Given the description of an element on the screen output the (x, y) to click on. 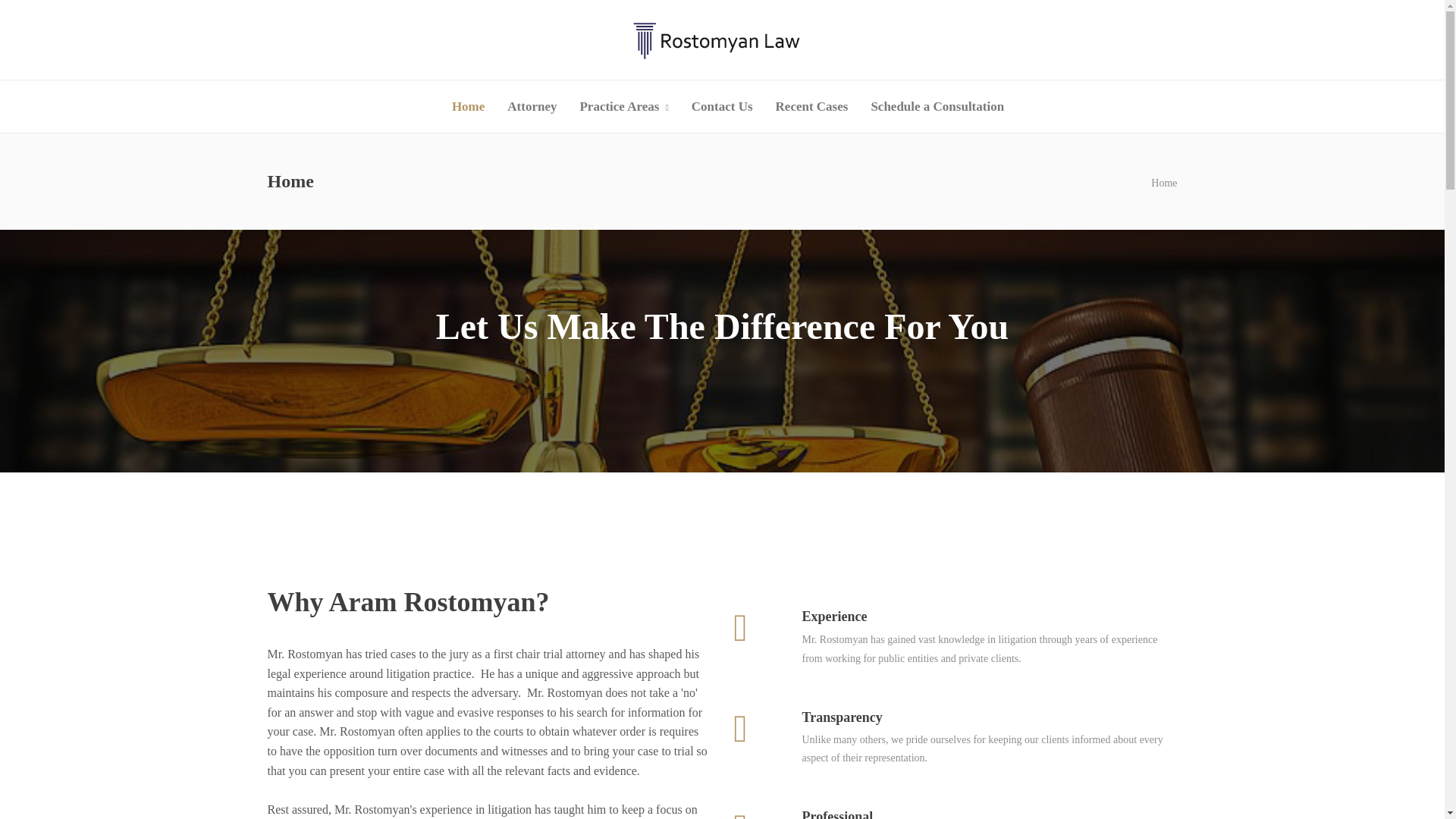
Contact Us (721, 106)
Home (1163, 183)
Home (467, 106)
Schedule a Consultation (937, 106)
Practice Areas (623, 106)
Recent Cases (812, 106)
Home (1163, 183)
Attorney (531, 106)
